Given the description of an element on the screen output the (x, y) to click on. 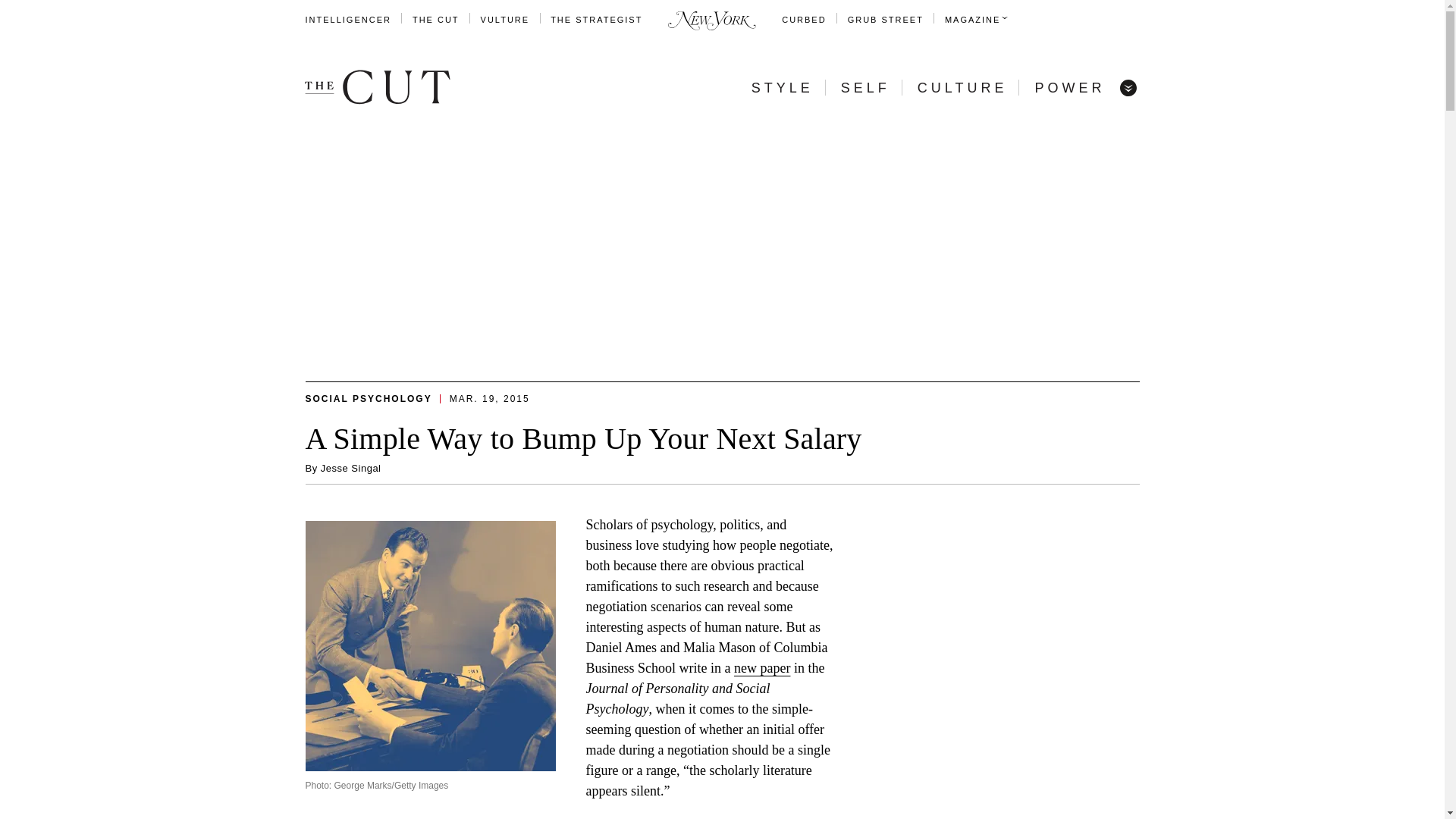
VULTURE (504, 19)
Menu (1127, 87)
CULTURE (962, 87)
MAGAZINE (972, 19)
POWER (1069, 87)
CURBED (803, 19)
GRUB STREET (885, 19)
STYLE (782, 87)
INTELLIGENCER (347, 19)
THE CUT (436, 19)
